Given the description of an element on the screen output the (x, y) to click on. 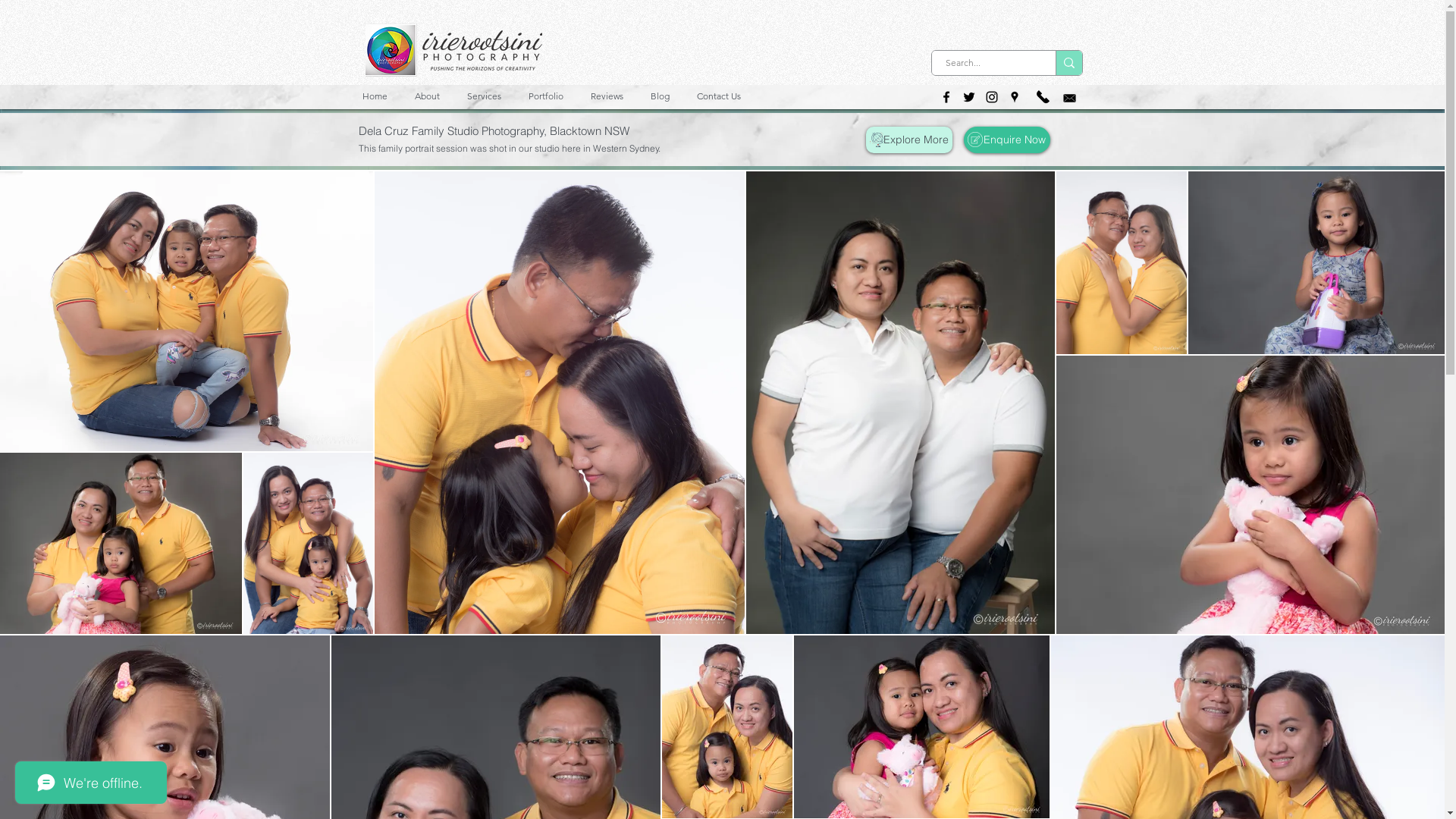
Goto Home Page Element type: hover (453, 48)
About Element type: text (429, 95)
Services Element type: text (485, 95)
Reviews Element type: text (609, 95)
Blog Element type: text (661, 95)
Explore More Element type: text (909, 139)
Enquire Now Element type: text (1006, 139)
Contact Us Element type: text (720, 95)
Home Element type: text (376, 95)
